Given the description of an element on the screen output the (x, y) to click on. 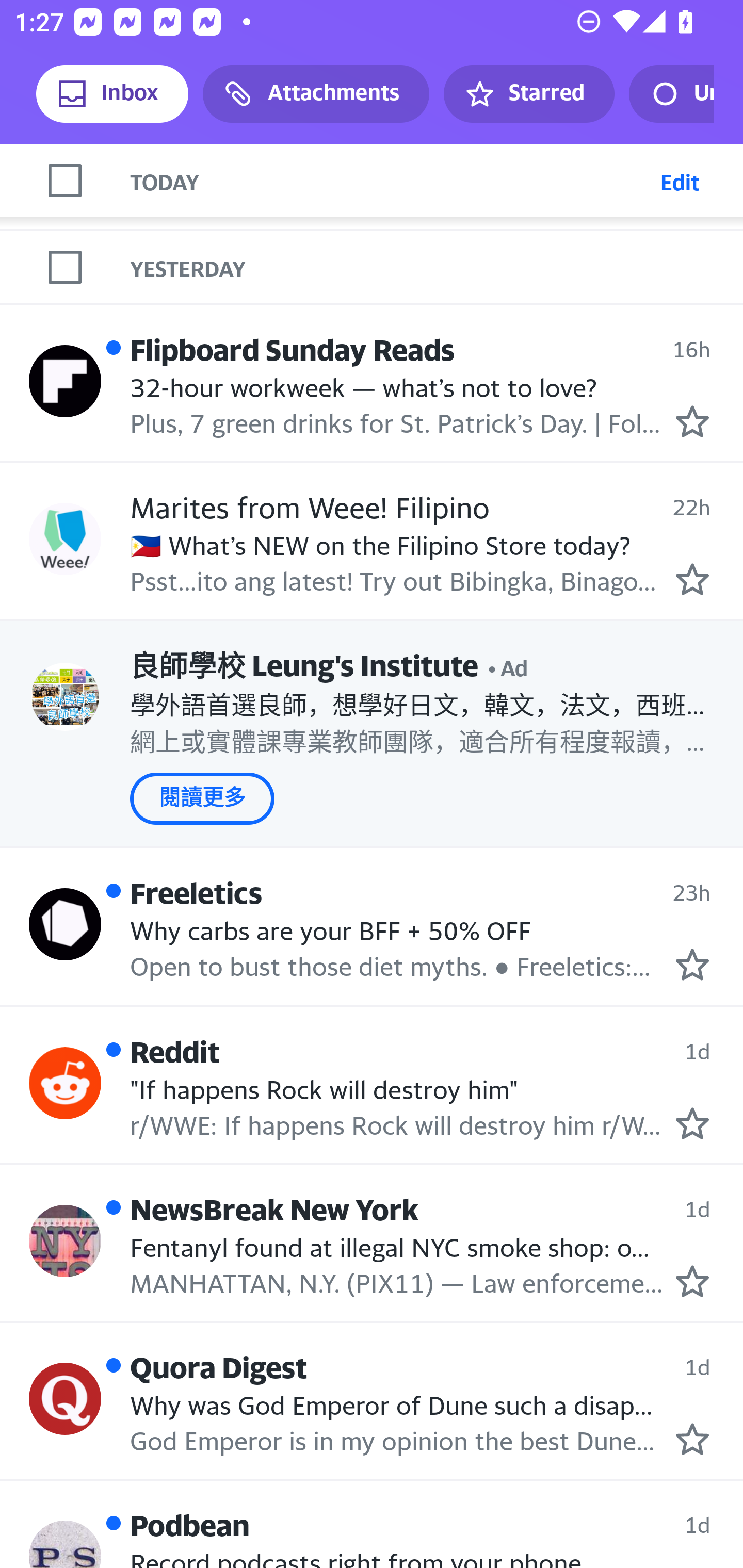
Attachments (315, 93)
Starred (528, 93)
YESTERDAY (436, 267)
Profile
Flipboard Sunday Reads (64, 380)
Mark as starred. (692, 420)
Profile
Marites from Weee! Filipino (64, 539)
Mark as starred. (692, 579)
Profile
Freeletics (64, 923)
Mark as starred. (692, 965)
Profile
Reddit (64, 1083)
Mark as starred. (692, 1123)
Profile
NewsBreak New York (64, 1240)
Mark as starred. (692, 1281)
Profile
Quora Digest (64, 1398)
Mark as starred. (692, 1438)
Profile
Podbean (64, 1544)
